Given the description of an element on the screen output the (x, y) to click on. 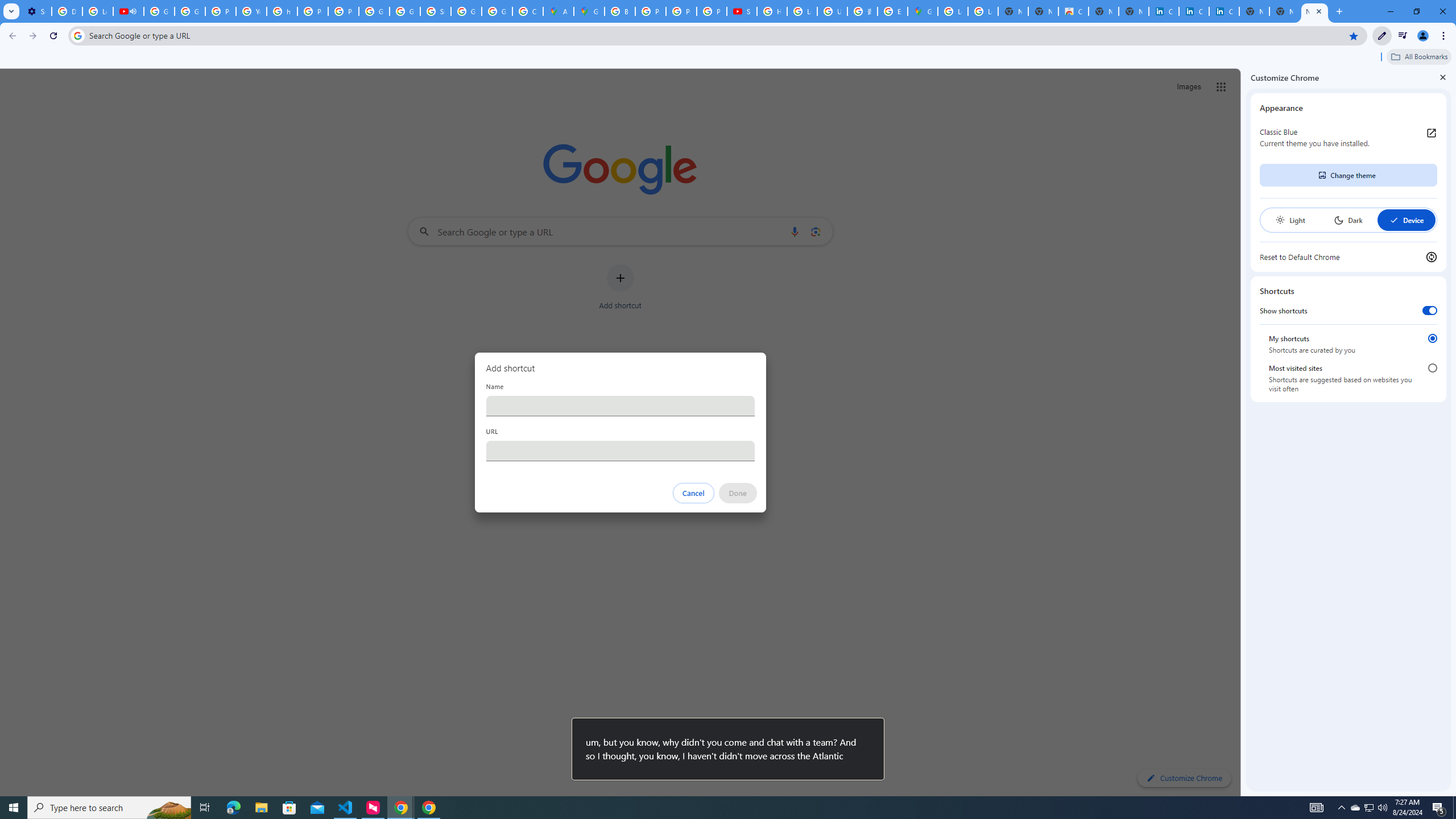
Learn how to find your photos - Google Photos Help (97, 11)
Google Maps (589, 11)
Done (737, 493)
Most visited sites (1432, 367)
How Chrome protects your passwords - Google Chrome Help (771, 11)
Subscriptions - YouTube (741, 11)
Privacy Help Center - Policies Help (312, 11)
